Given the description of an element on the screen output the (x, y) to click on. 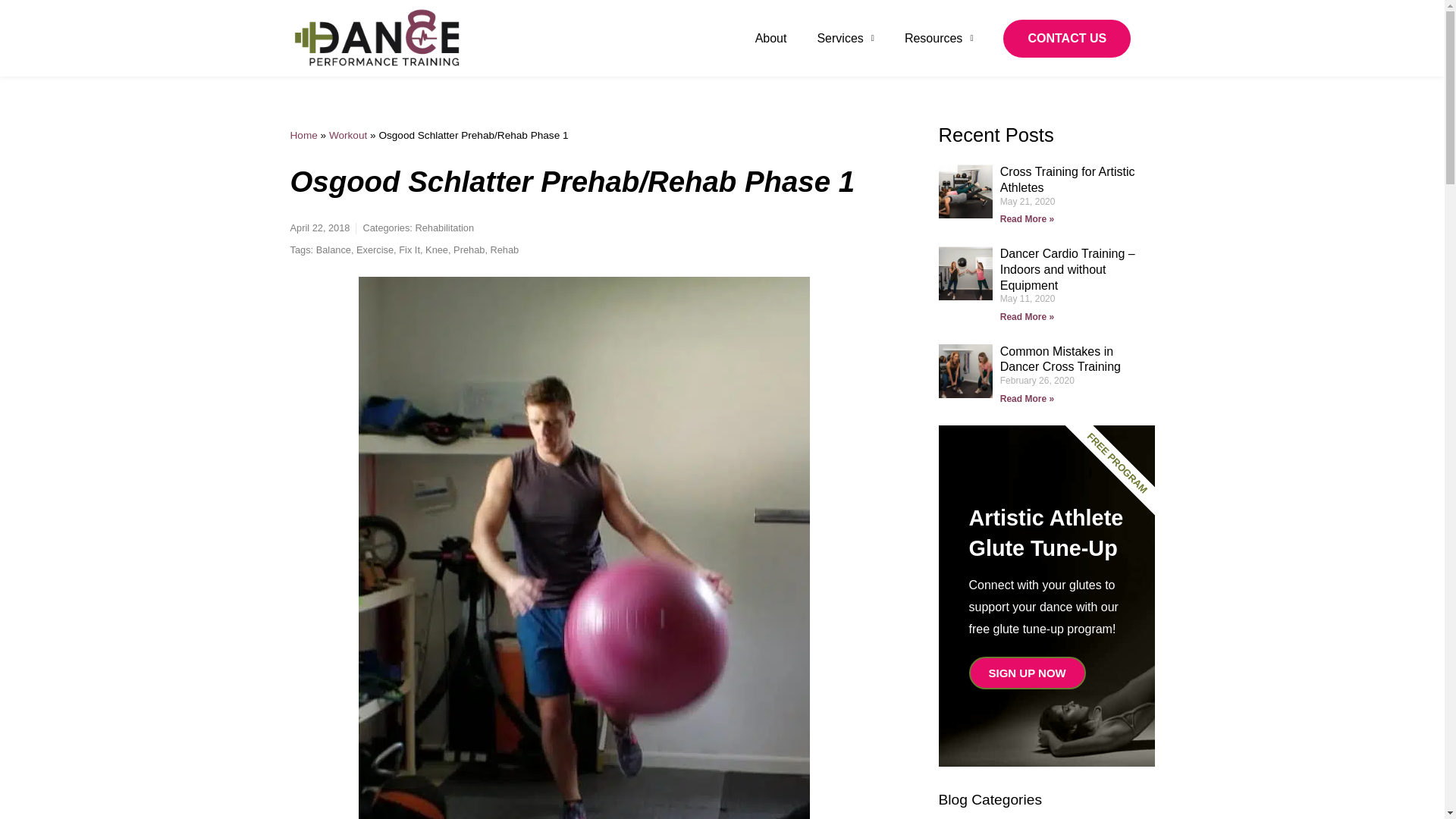
Services (845, 38)
CONTACT US (1067, 38)
About (770, 38)
Resources (938, 38)
